Given the description of an element on the screen output the (x, y) to click on. 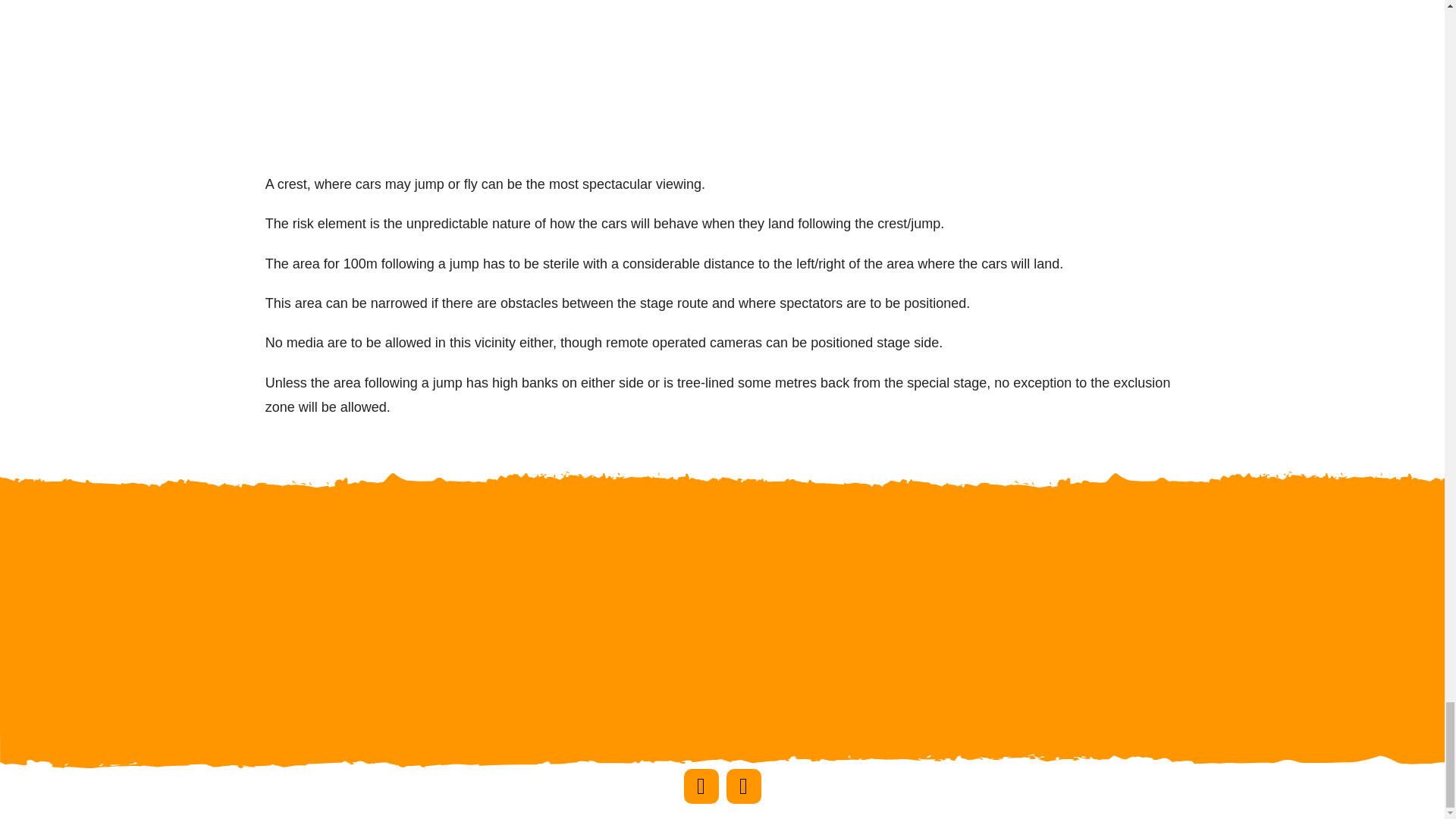
CrestSafety (622, 85)
ModernColor (1324, 567)
SheCrawls (722, 684)
